Given the description of an element on the screen output the (x, y) to click on. 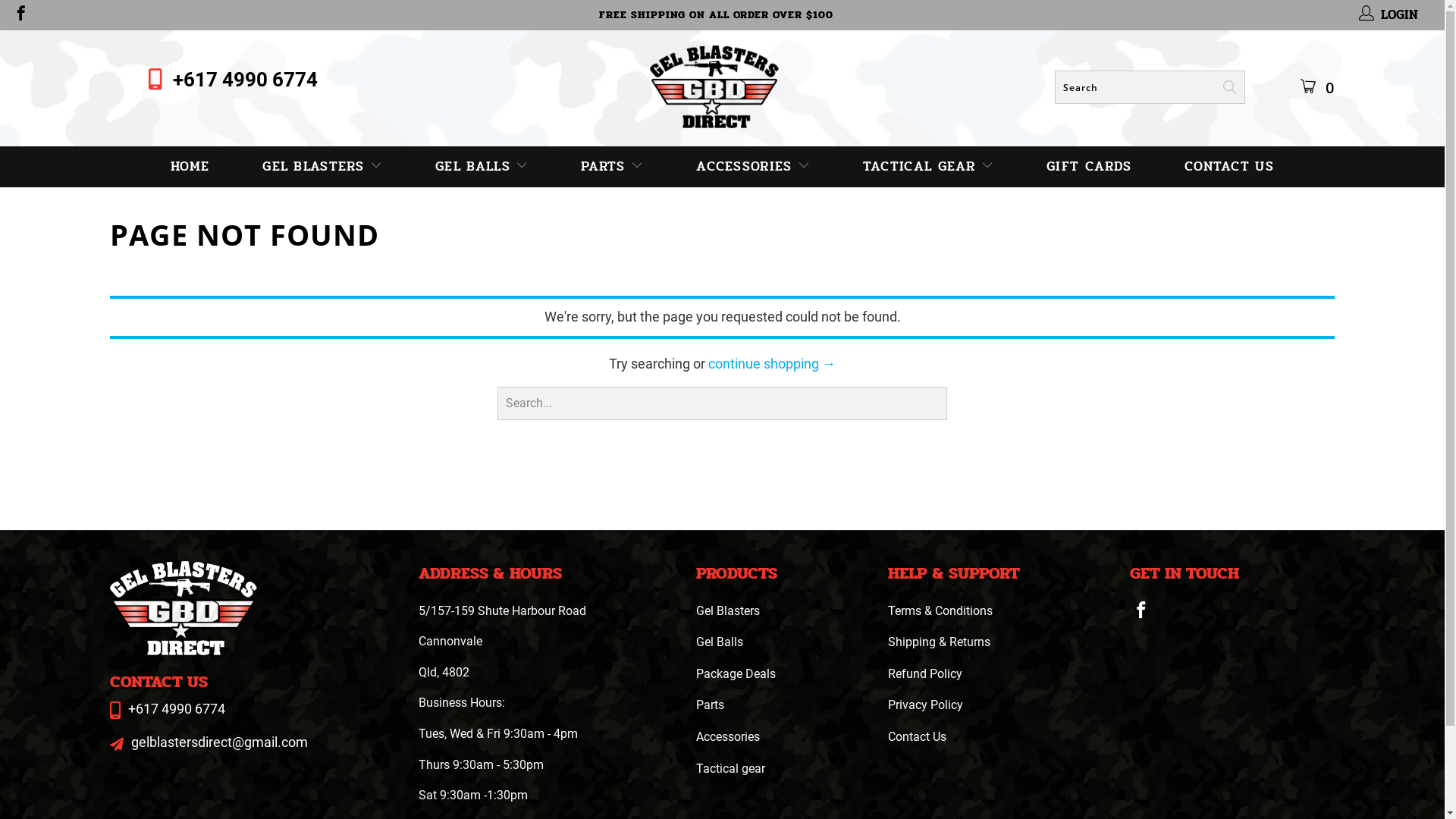
+617 4990 6774 Element type: text (244, 79)
CONTACT US Element type: text (1229, 166)
Terms & Conditions Element type: text (940, 610)
Refund Policy Element type: text (925, 673)
Parts Element type: text (710, 704)
PARTS Element type: text (611, 166)
0 Element type: text (1323, 83)
HOME Element type: text (189, 166)
Privacy Policy Element type: text (925, 704)
Gel Blasters Direct  on Facebook Element type: hover (19, 14)
GEL BALLS Element type: text (481, 166)
Accessories Element type: text (727, 736)
Gel Blasters Direct  Element type: hover (713, 86)
Tactical gear Element type: text (730, 768)
Shipping & Returns Element type: text (939, 641)
Contact Us Element type: text (917, 736)
GIFT CARDS Element type: text (1088, 166)
LOGIN Element type: text (1388, 15)
Package Deals Element type: text (735, 673)
GEL BLASTERS Element type: text (322, 166)
ACCESSORIES Element type: text (752, 166)
Gel Blasters Element type: text (727, 610)
Gel Balls Element type: text (719, 641)
TACTICAL GEAR Element type: text (927, 166)
Gel Blasters Direct  on Facebook Element type: hover (1140, 611)
